Given the description of an element on the screen output the (x, y) to click on. 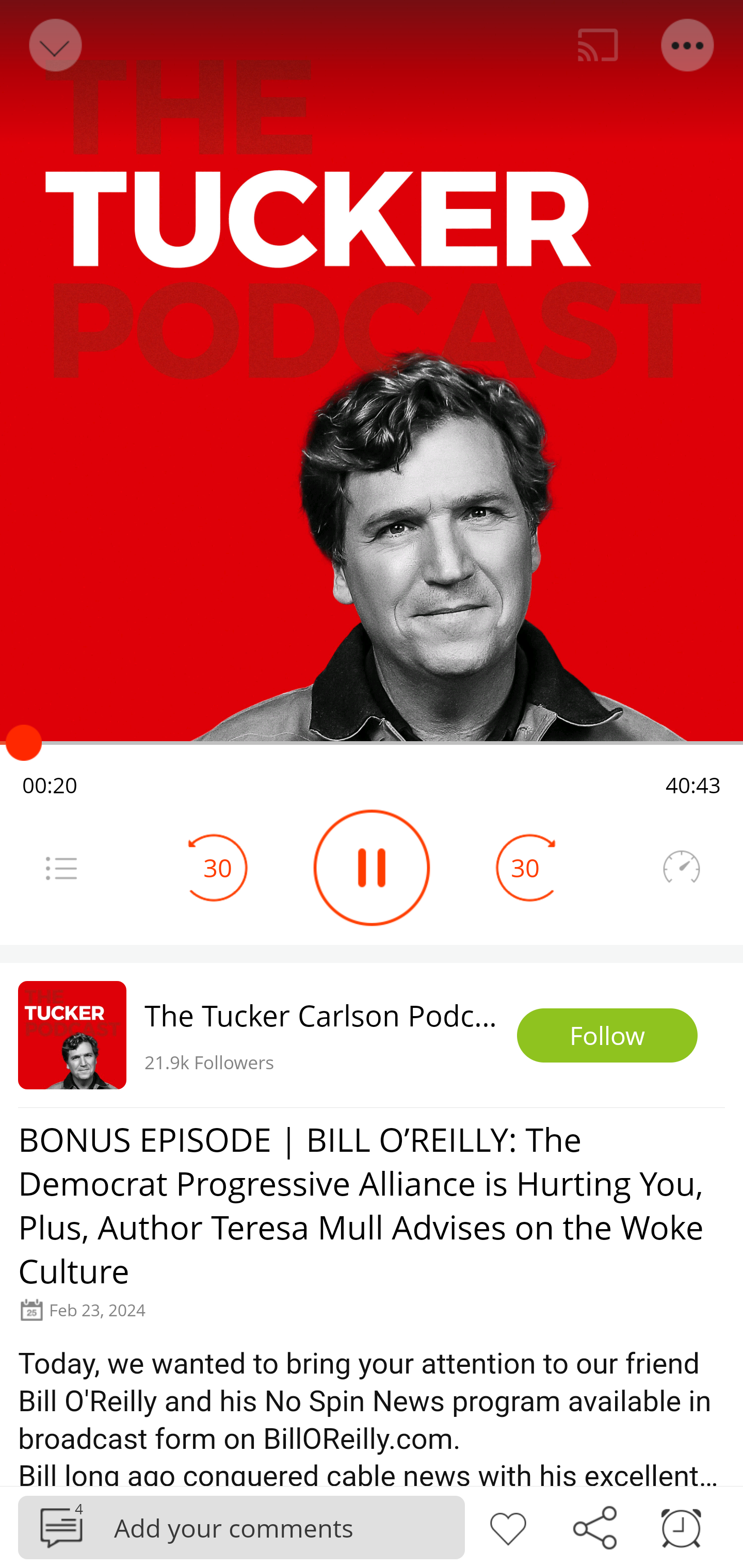
Back (53, 45)
Cast. Disconnected (597, 45)
Menu (688, 45)
Play (371, 867)
30 Seek Backward (217, 867)
30 Seek Forward (525, 867)
Menu (60, 867)
Speedometer (681, 867)
The Tucker Carlson Podcast 21.9k Followers Follow (371, 1034)
Follow (607, 1035)
Like (508, 1526)
Share (594, 1526)
Sleep timer (681, 1526)
Podbean 4 Add your comments (241, 1526)
